Given the description of an element on the screen output the (x, y) to click on. 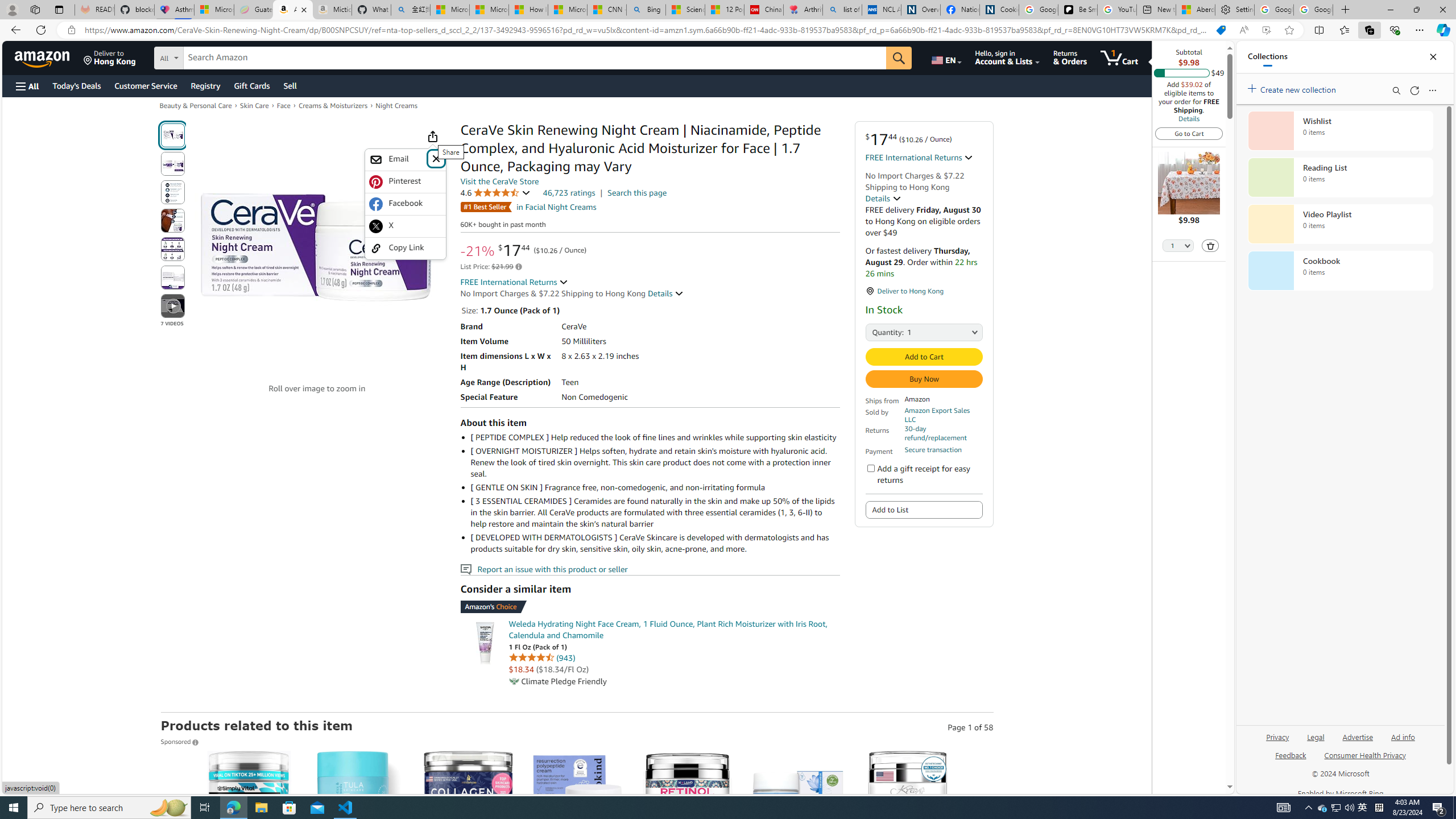
Video Playlist collection, 0 items (1339, 223)
Copy Link (405, 247)
Pinterest (404, 181)
How I Got Rid of Microsoft Edge's Unnecessary Features (528, 9)
Facebook (405, 203)
Create new collection (1293, 87)
